Given the description of an element on the screen output the (x, y) to click on. 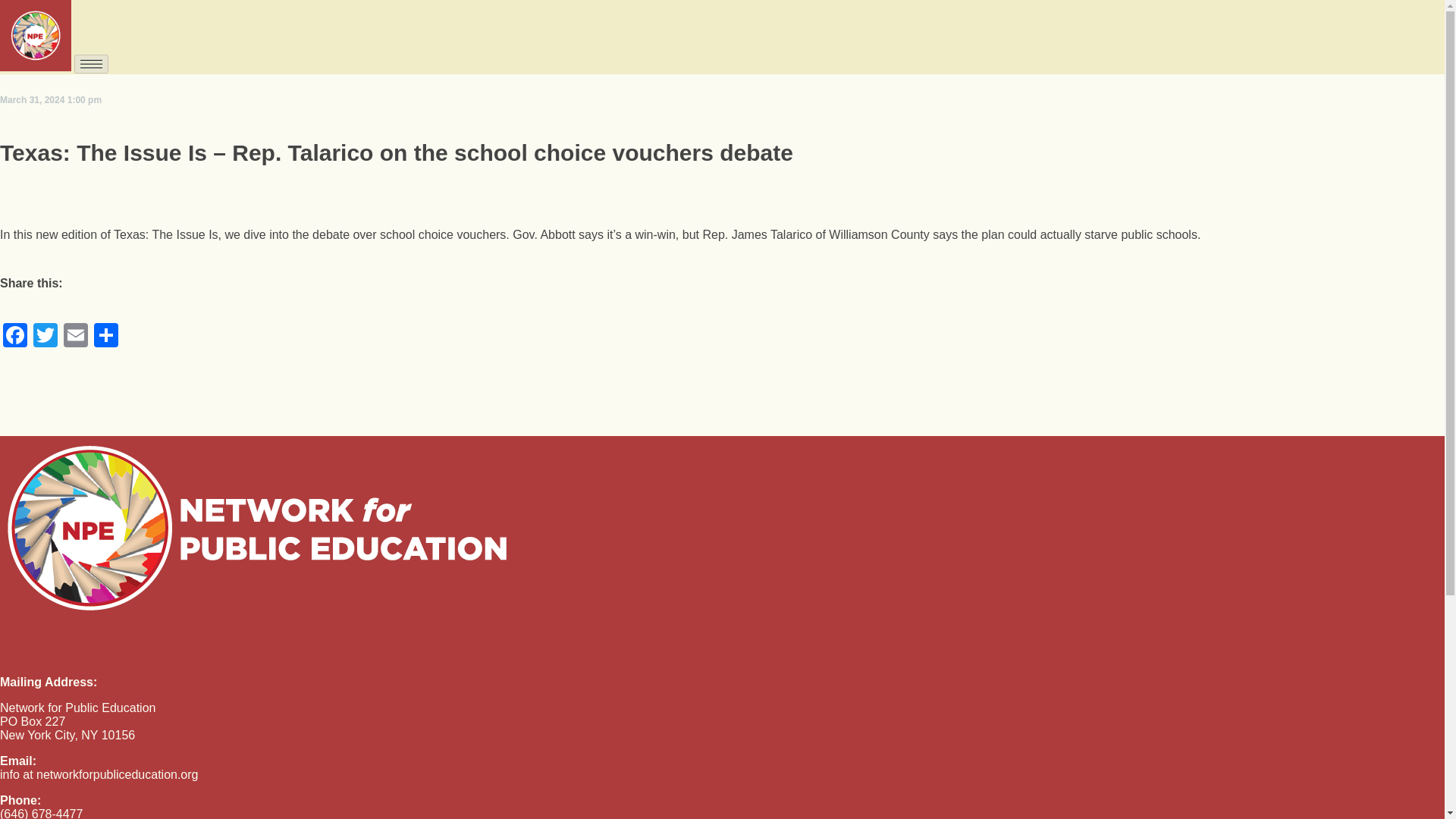
Email (75, 336)
Facebook (15, 336)
Facebook (15, 336)
Email (75, 336)
Twitter (45, 336)
Share (105, 336)
Twitter (45, 336)
